Given the description of an element on the screen output the (x, y) to click on. 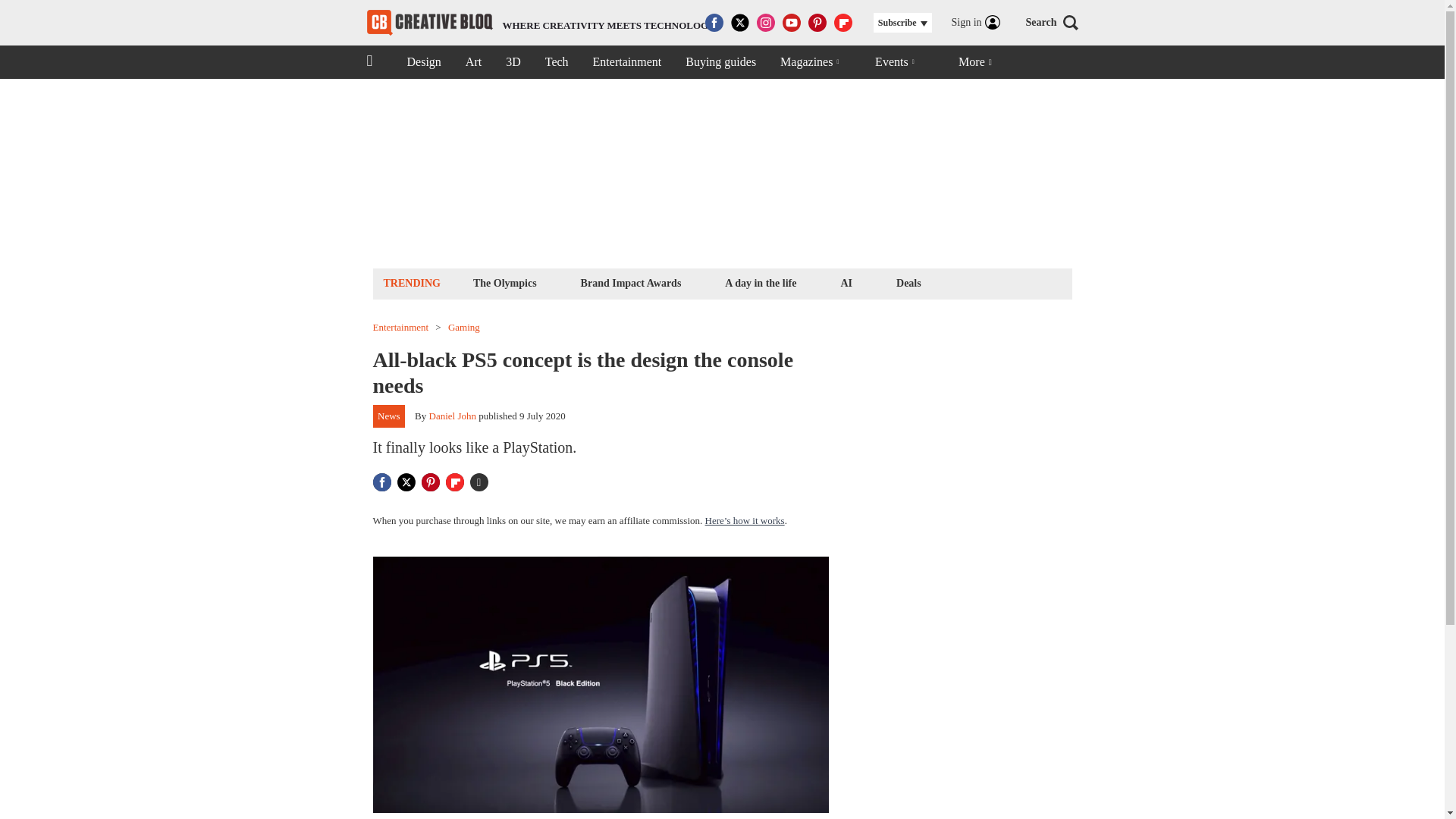
Creative Bloq (429, 22)
Brand Impact Awards (631, 282)
Entertainment (627, 61)
News (389, 415)
The Olympics (504, 282)
A day in the life (541, 22)
Tech (760, 282)
Art (556, 61)
Design (472, 61)
